Given the description of an element on the screen output the (x, y) to click on. 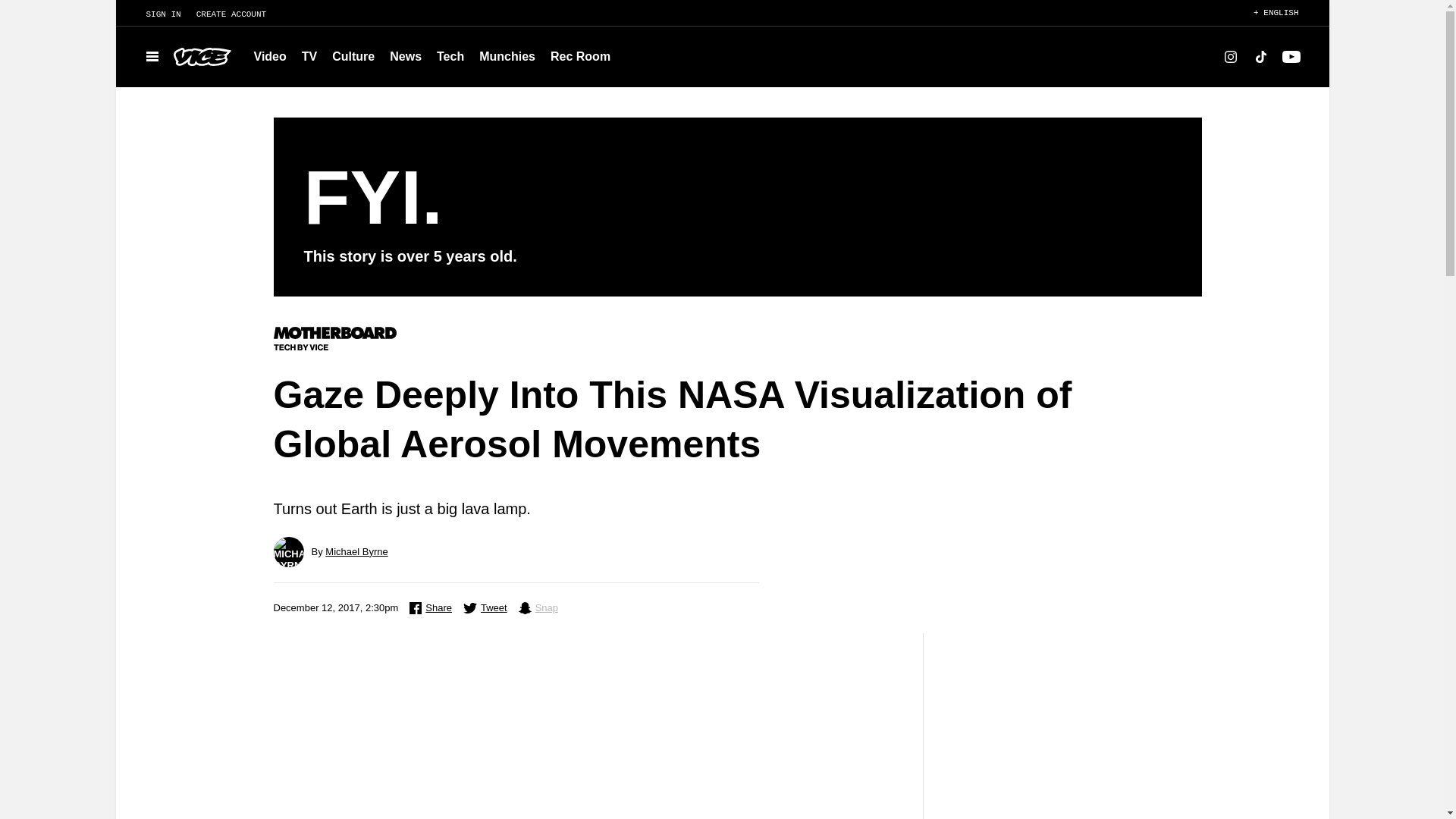
Tech (450, 56)
Video (270, 56)
Munchies (507, 56)
CREATE ACCOUNT (238, 13)
Rec Room (580, 56)
SIGN IN (155, 13)
Share on Snapchat (537, 608)
Culture (352, 56)
News (405, 56)
TV (309, 56)
